Given the description of an element on the screen output the (x, y) to click on. 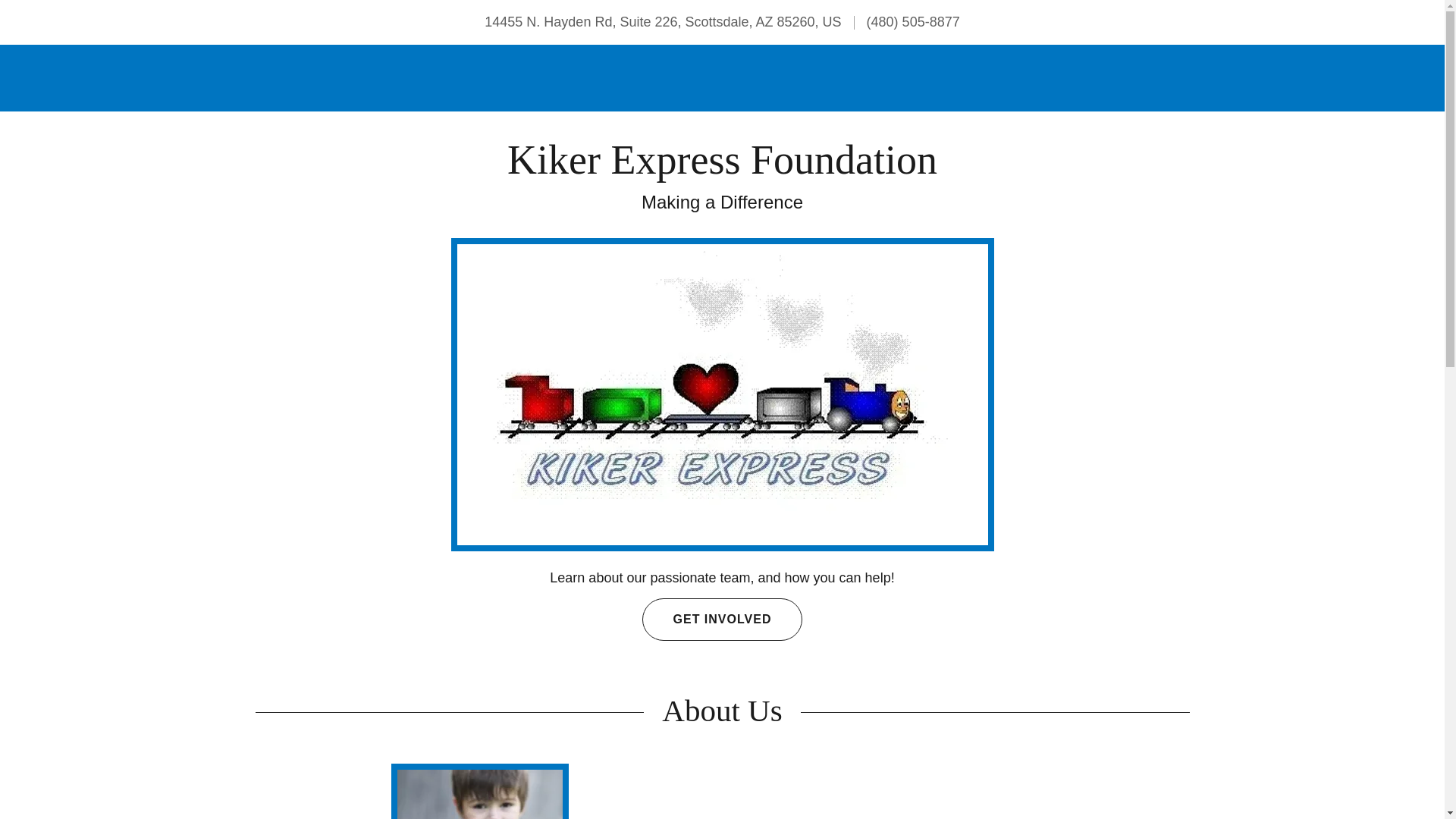
Kiker Express Foundation (721, 168)
GET INVOLVED (722, 619)
Kiker Express Foundation (721, 168)
